Given the description of an element on the screen output the (x, y) to click on. 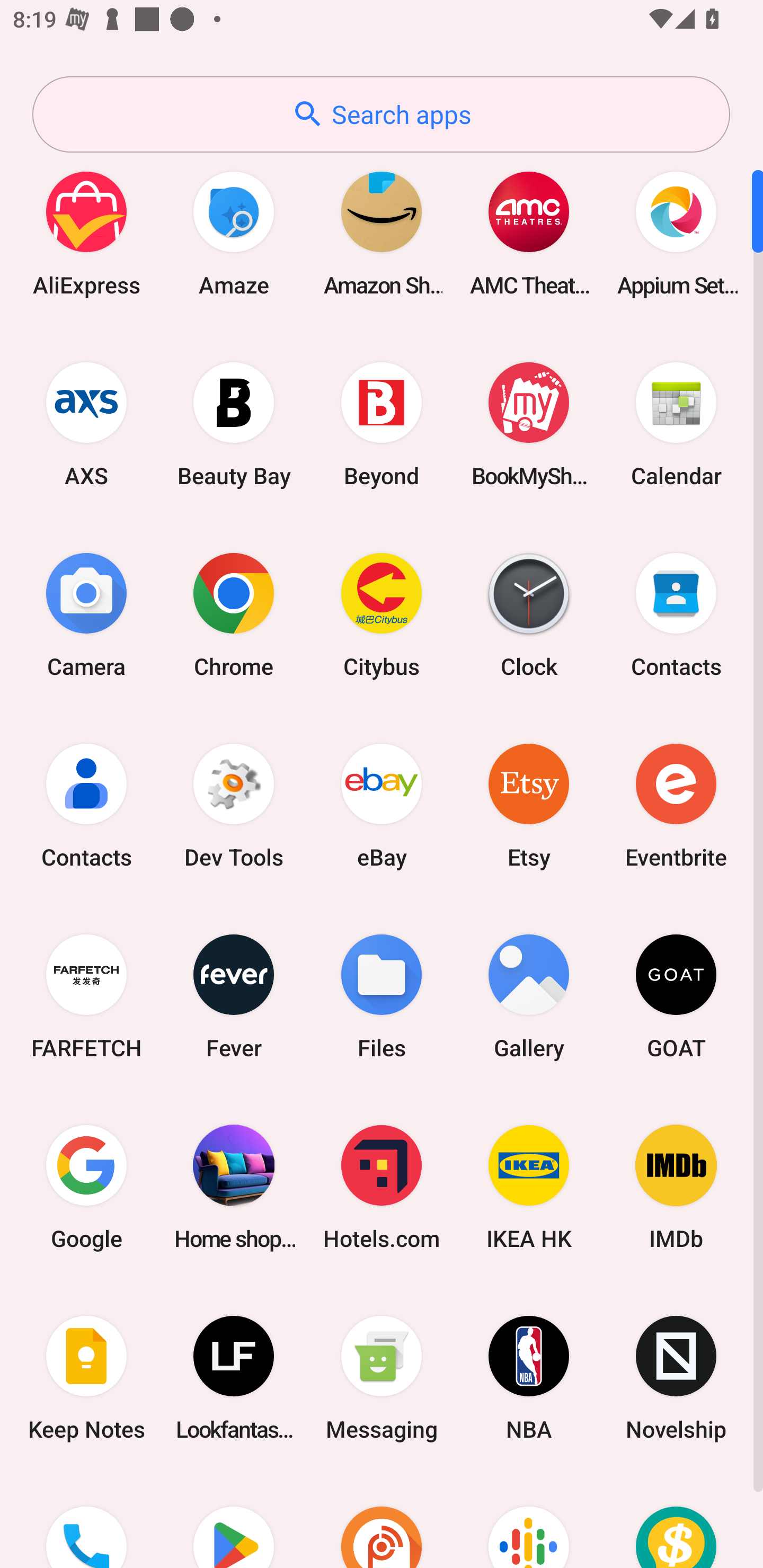
  Search apps (381, 114)
AliExpress (86, 233)
Amaze (233, 233)
Amazon Shopping (381, 233)
AMC Theatres (528, 233)
Appium Settings (676, 233)
AXS (86, 424)
Beauty Bay (233, 424)
Beyond (381, 424)
BookMyShow (528, 424)
Calendar (676, 424)
Camera (86, 614)
Chrome (233, 614)
Citybus (381, 614)
Clock (528, 614)
Contacts (676, 614)
Contacts (86, 805)
Dev Tools (233, 805)
eBay (381, 805)
Etsy (528, 805)
Eventbrite (676, 805)
FARFETCH (86, 996)
Fever (233, 996)
Files (381, 996)
Gallery (528, 996)
GOAT (676, 996)
Google (86, 1186)
Home shopping (233, 1186)
Hotels.com (381, 1186)
IKEA HK (528, 1186)
IMDb (676, 1186)
Keep Notes (86, 1377)
Lookfantastic (233, 1377)
Messaging (381, 1377)
NBA (528, 1377)
Novelship (676, 1377)
Phone (86, 1520)
Play Store (233, 1520)
Podcast Addict (381, 1520)
Podcasts (528, 1520)
Price (676, 1520)
